Given the description of an element on the screen output the (x, y) to click on. 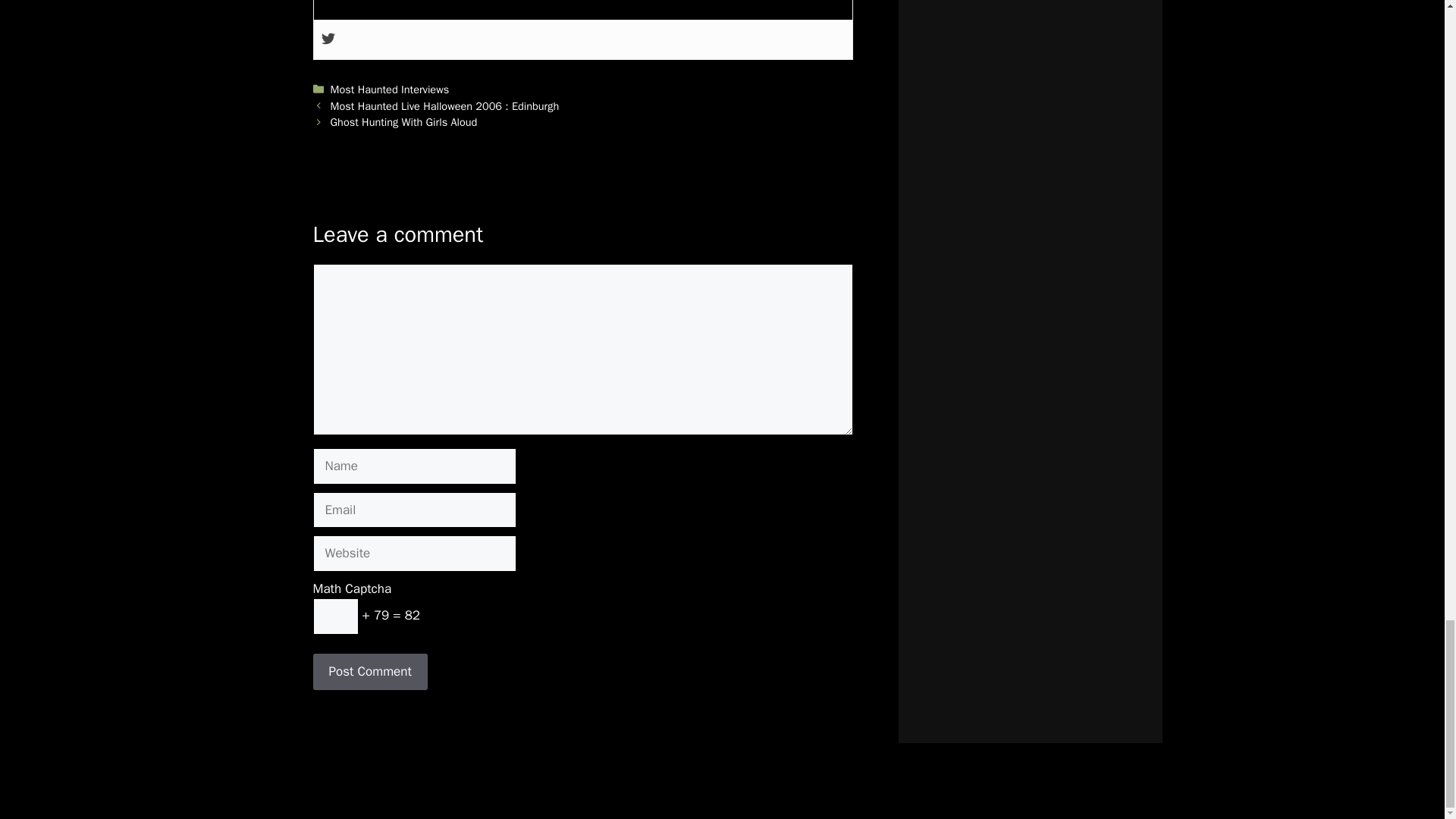
Post Comment (369, 671)
